Given the description of an element on the screen output the (x, y) to click on. 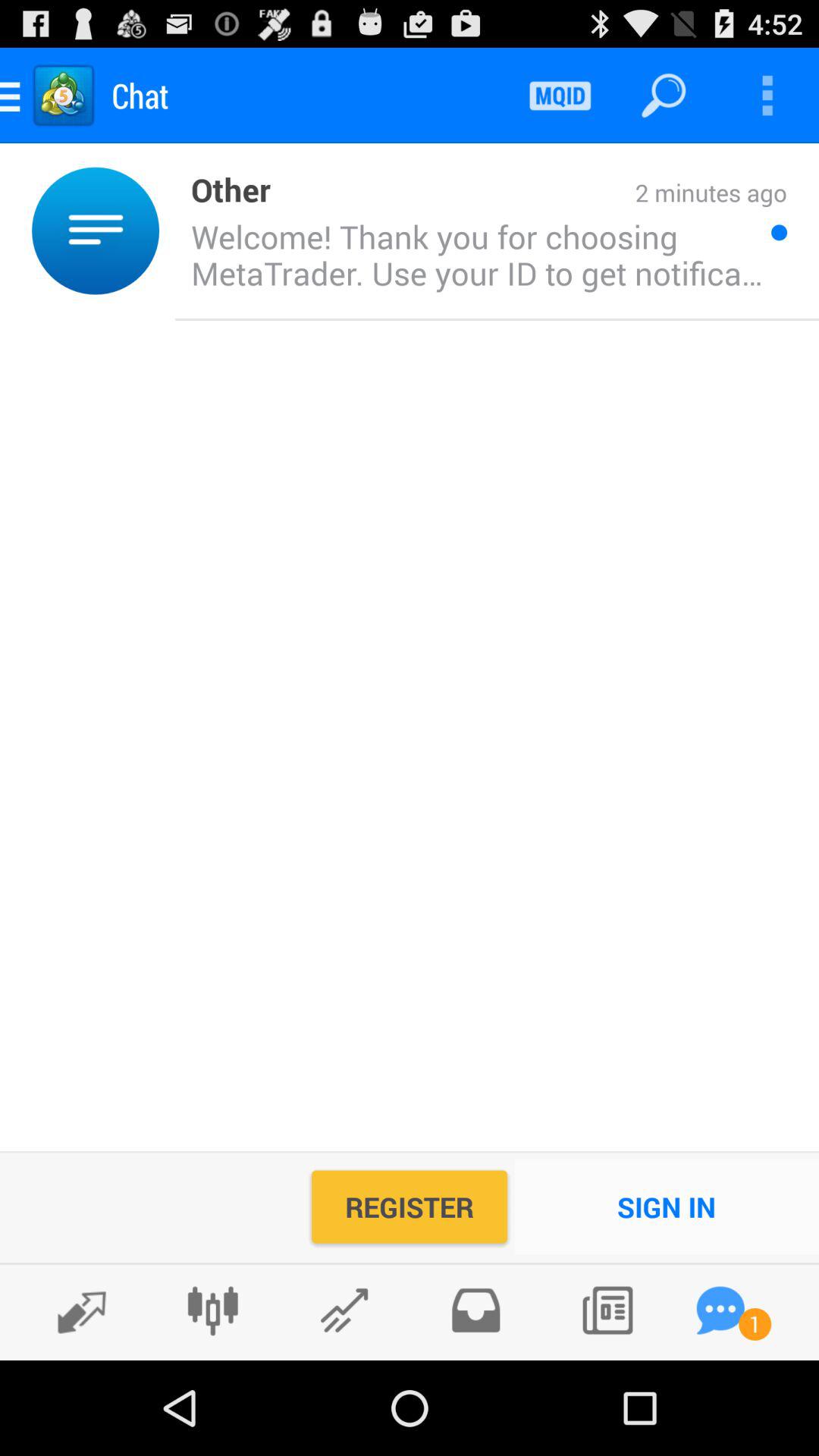
turn on the icon below chat item (167, 230)
